Given the description of an element on the screen output the (x, y) to click on. 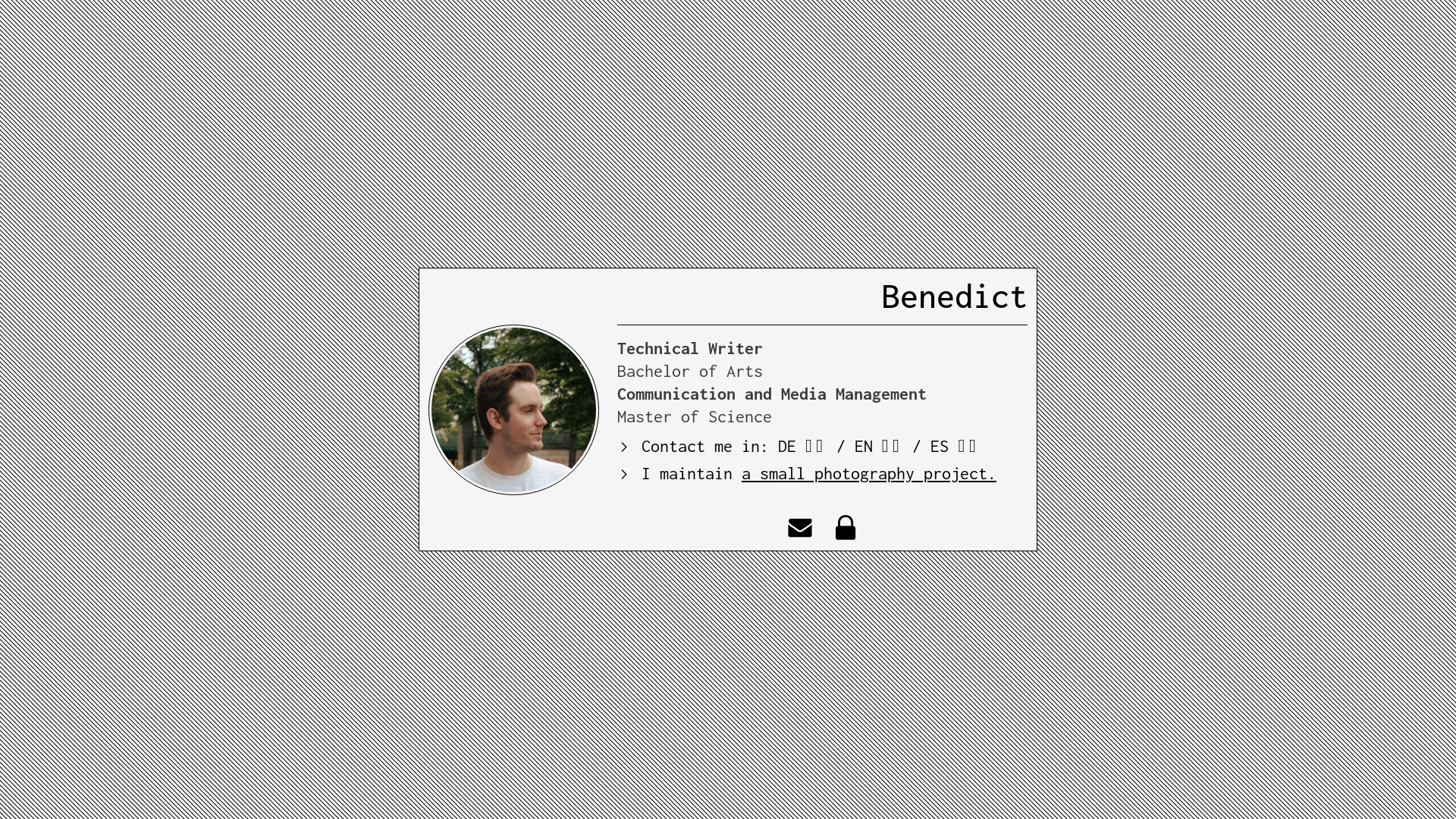
a small photography project. Element type: text (868, 473)
